Given the description of an element on the screen output the (x, y) to click on. 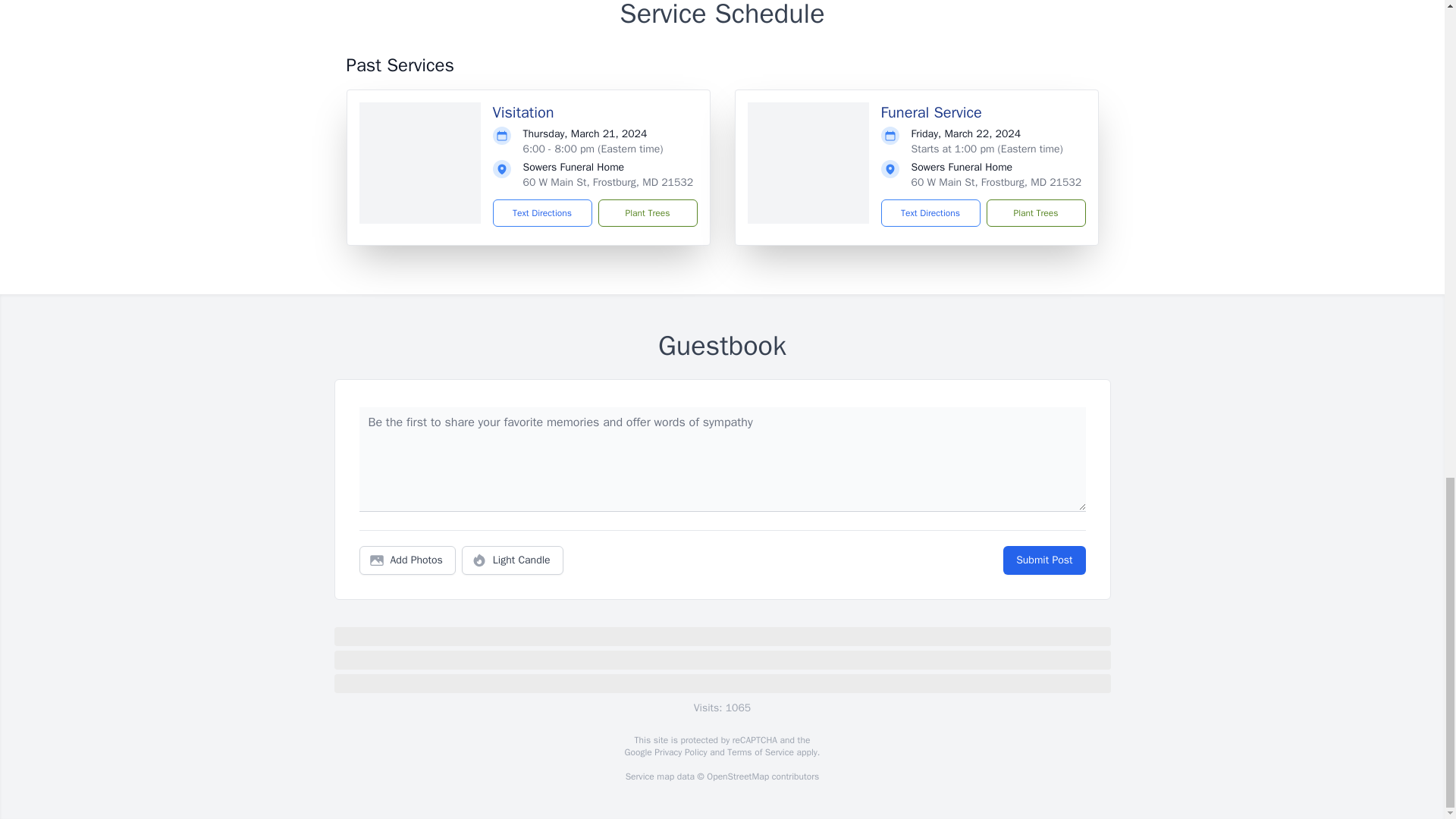
Text Directions (542, 212)
60 W Main St, Frostburg, MD 21532 (996, 182)
Terms of Service (759, 752)
Plant Trees (646, 212)
Light Candle (512, 560)
Privacy Policy (679, 752)
Submit Post (1043, 560)
60 W Main St, Frostburg, MD 21532 (608, 182)
OpenStreetMap (737, 776)
Text Directions (929, 212)
